Given the description of an element on the screen output the (x, y) to click on. 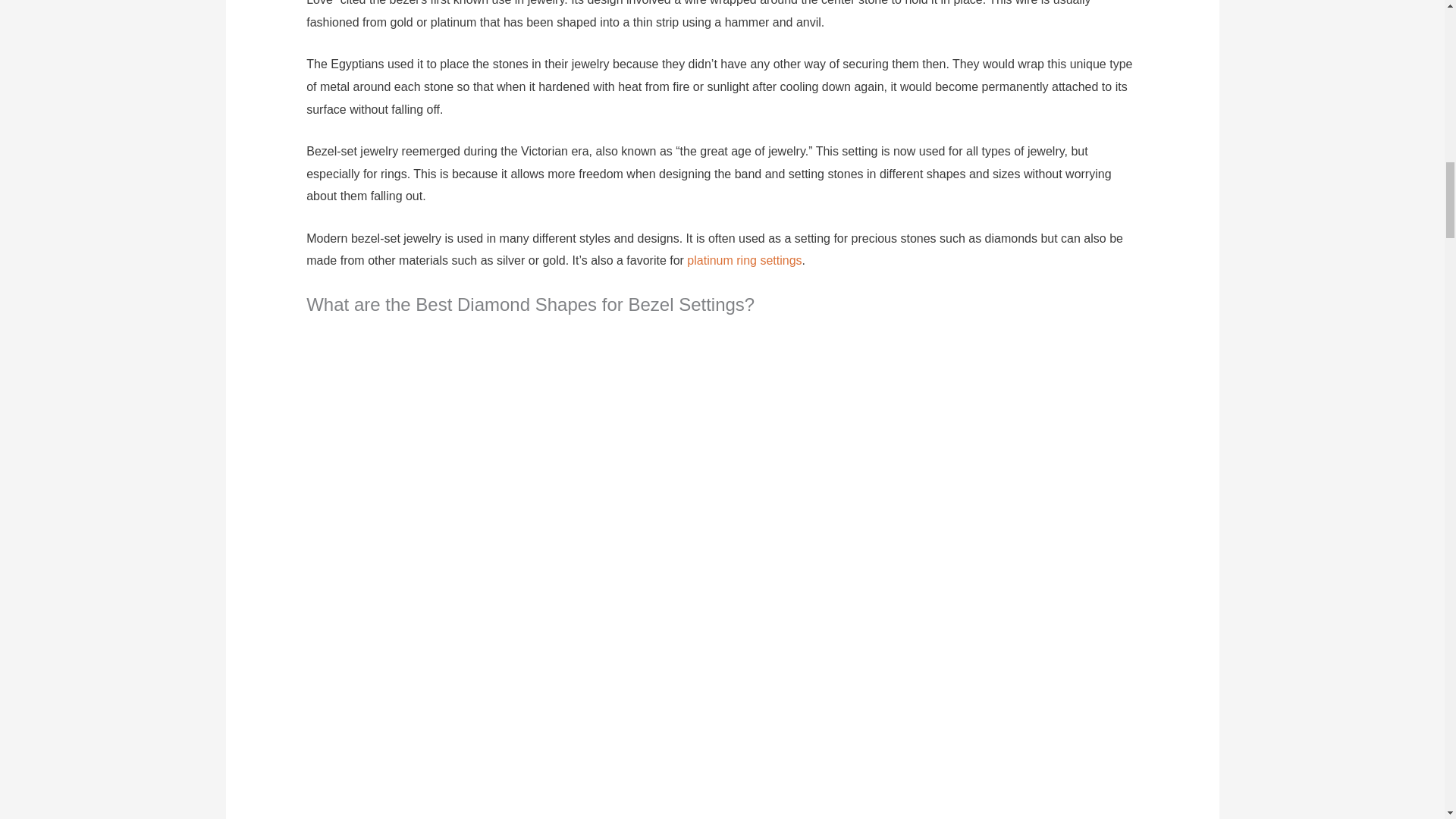
platinum ring settings (744, 259)
